Given the description of an element on the screen output the (x, y) to click on. 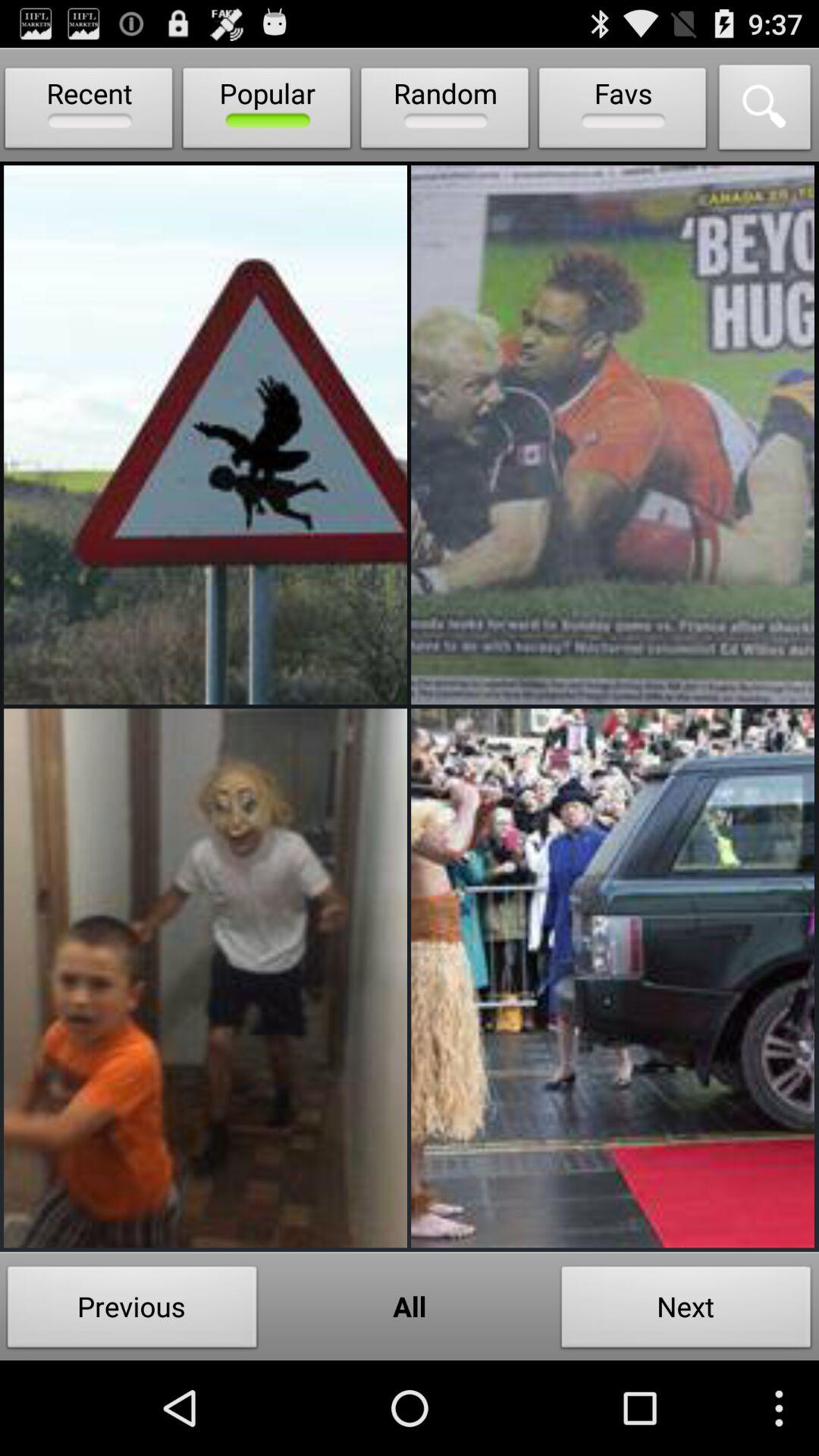
tap the recent item (89, 111)
